Given the description of an element on the screen output the (x, y) to click on. 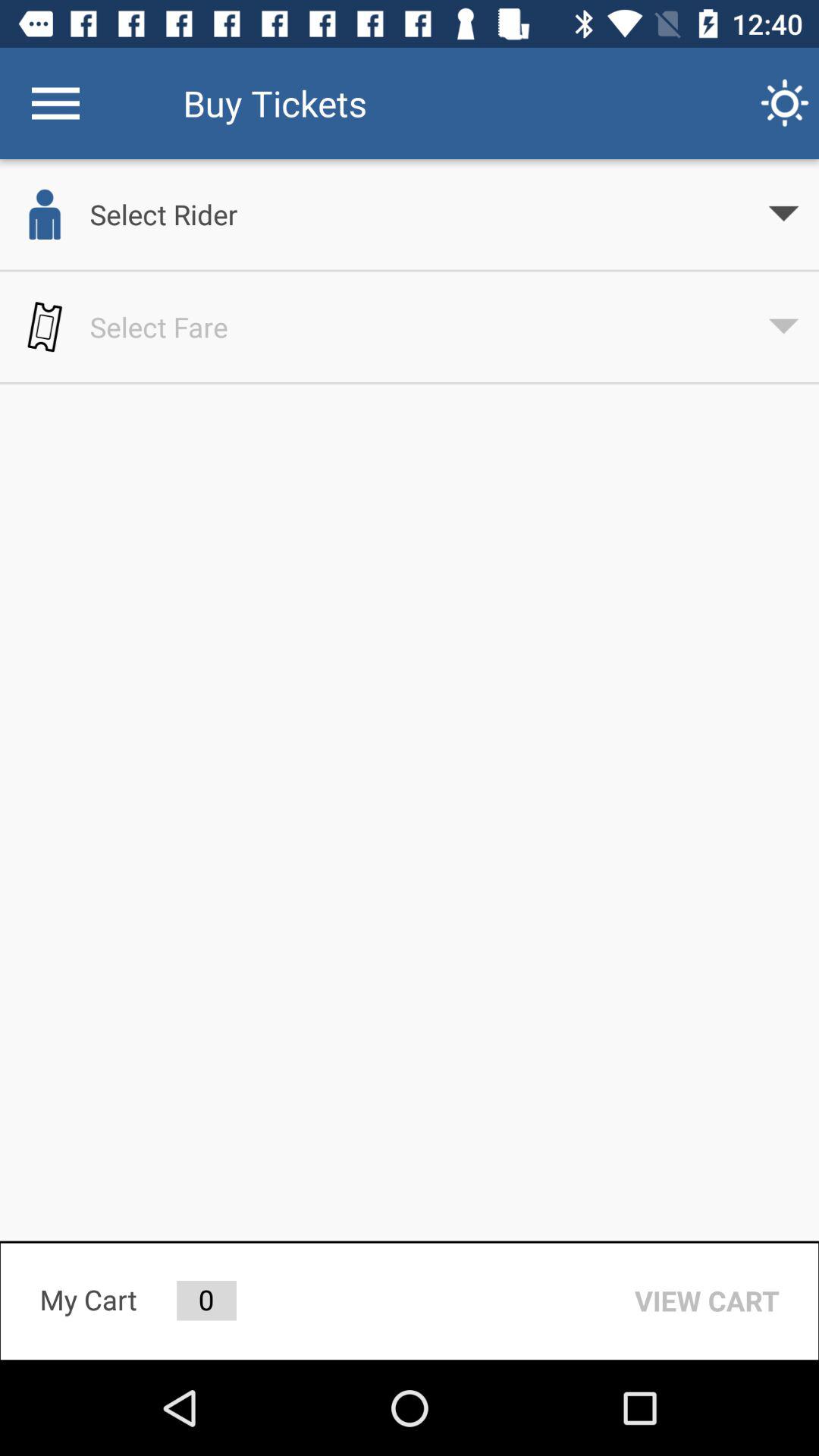
turn on item next to the buy tickets (785, 103)
